Given the description of an element on the screen output the (x, y) to click on. 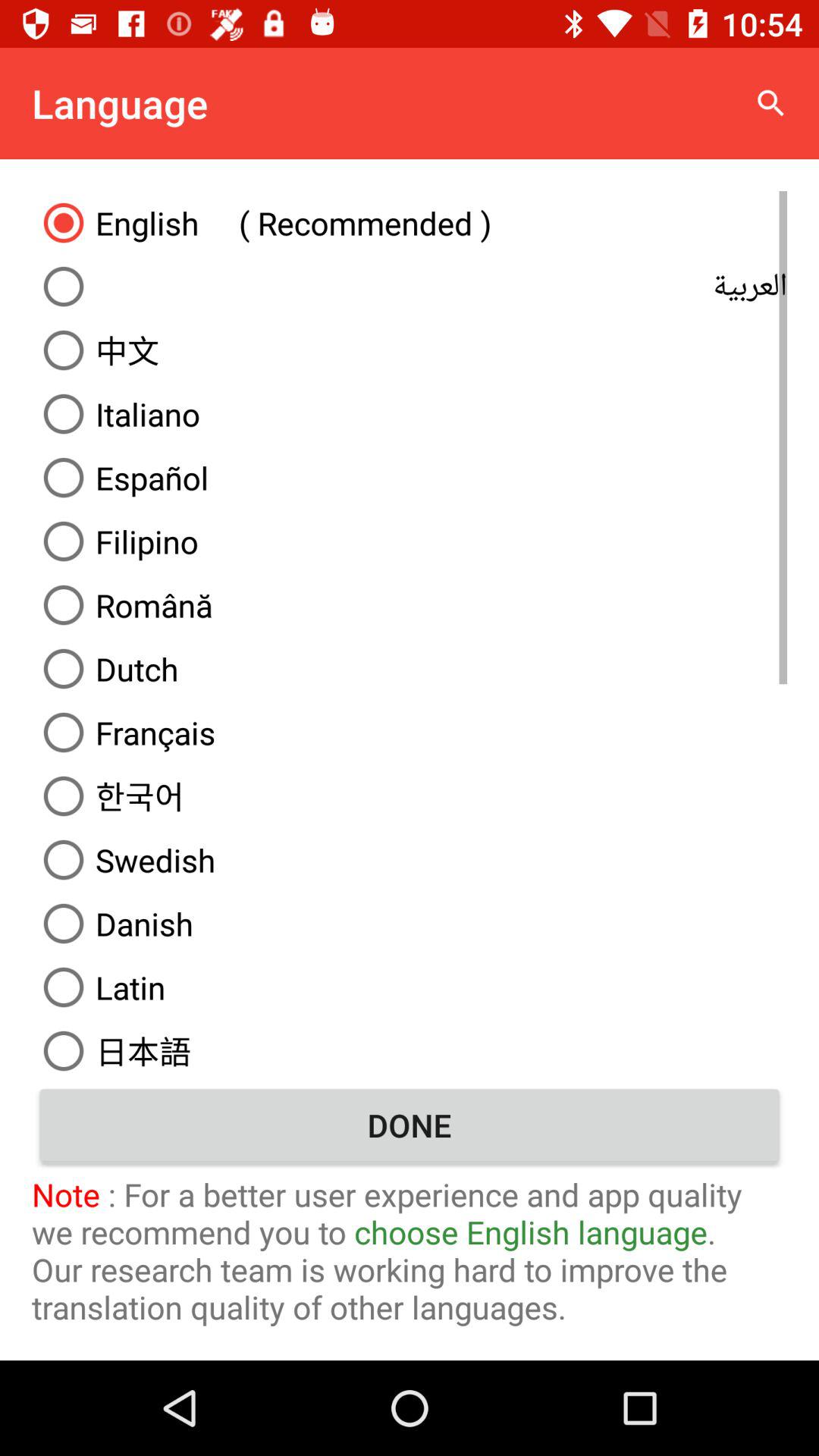
select item above english     ( recommended ) item (771, 103)
